Given the description of an element on the screen output the (x, y) to click on. 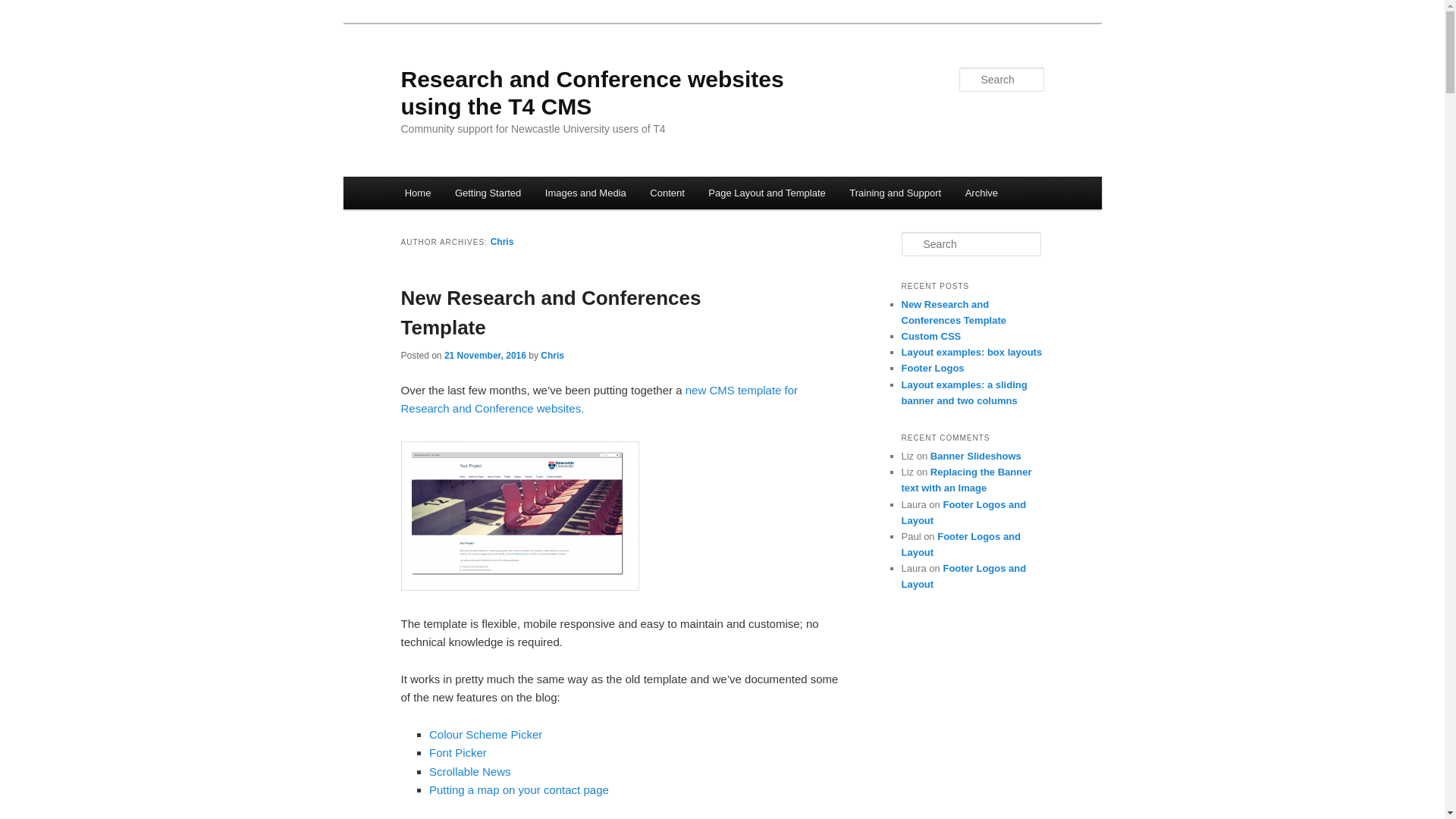
Scrollable News (470, 771)
New Research and Conferences Template (550, 312)
Archive (981, 192)
Chris (501, 241)
Colour Scheme Picker (485, 734)
Home (417, 192)
Images and Media (584, 192)
Getting Started (487, 192)
Chris (552, 355)
